Given the description of an element on the screen output the (x, y) to click on. 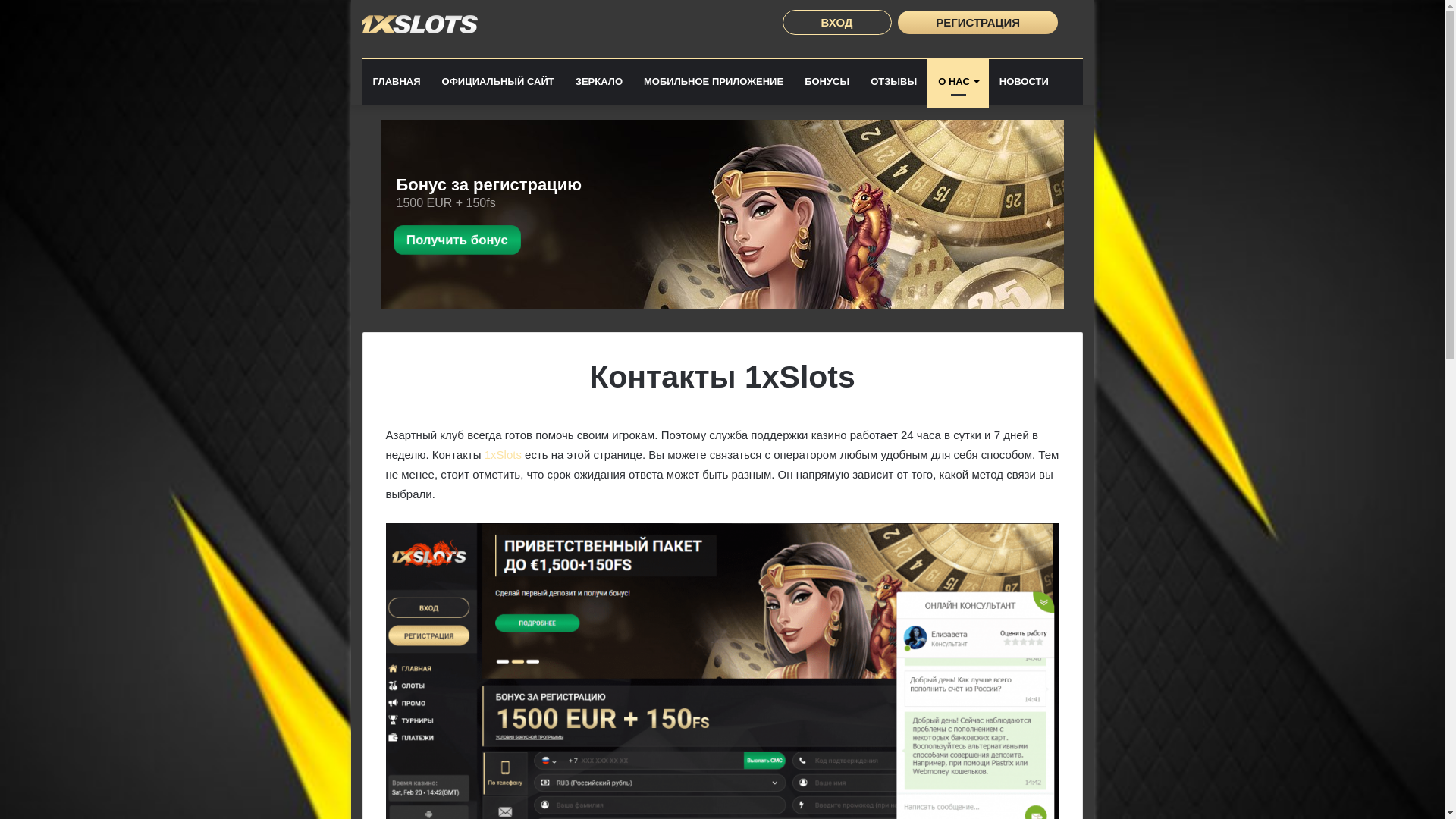
1xSlots Element type: hover (419, 24)
1xSlots Element type: text (502, 454)
